Given the description of an element on the screen output the (x, y) to click on. 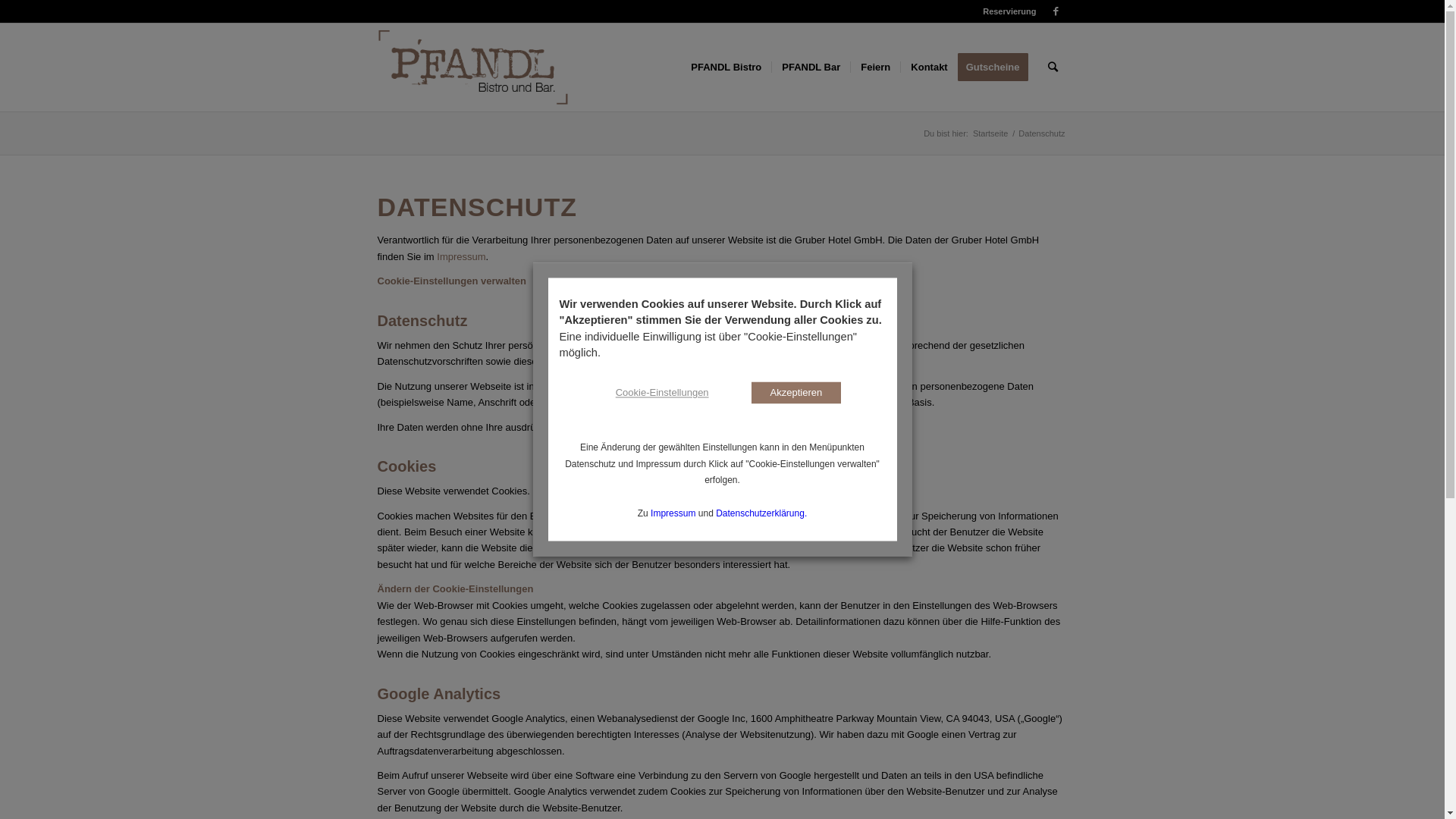
Startseite Element type: text (990, 133)
Feiern Element type: text (875, 67)
Cookie-Einstellungen Element type: text (662, 393)
PFANDL Bistro Element type: text (725, 67)
Kontakt Element type: text (928, 67)
Akzeptieren Element type: text (796, 393)
Cookie-Einstellungen verwalten Element type: text (452, 280)
Facebook Element type: hover (1055, 11)
Reservierung Element type: text (1008, 11)
Impressum Element type: text (460, 256)
Gutscheine Element type: text (997, 67)
Impressum Element type: text (672, 513)
PFANDL Bar Element type: text (810, 67)
